Given the description of an element on the screen output the (x, y) to click on. 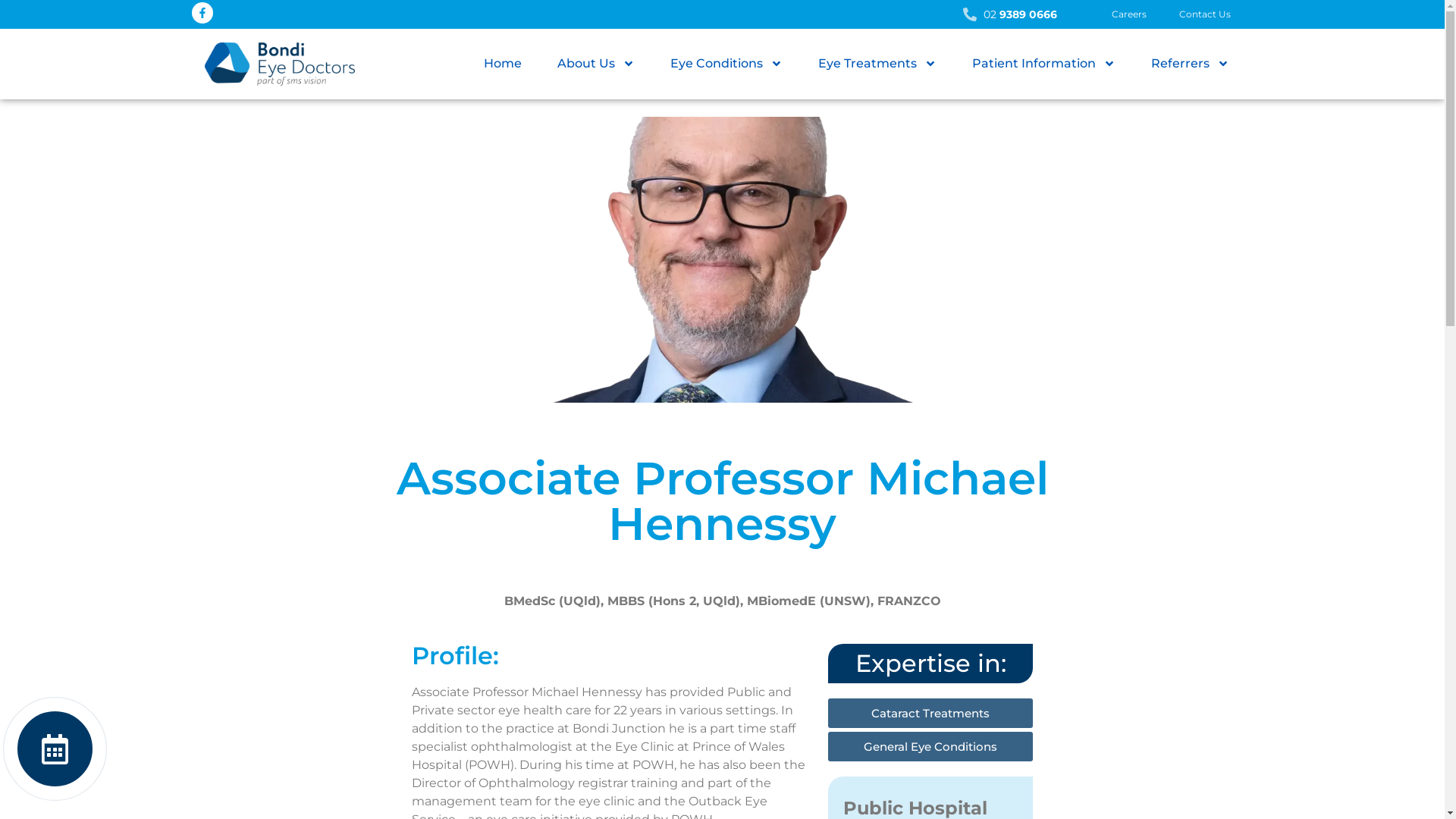
About Us Element type: text (595, 63)
Patient Information Element type: text (1043, 63)
Eye Conditions Element type: text (725, 63)
Eye Treatments Element type: text (876, 63)
General Eye Conditions Element type: text (930, 746)
Cataract Treatments Element type: text (930, 713)
342A2625_cropped Element type: hover (721, 259)
Home Element type: text (502, 63)
Referrers Element type: text (1189, 63)
02 9389 0666 Element type: text (828, 13)
